Given the description of an element on the screen output the (x, y) to click on. 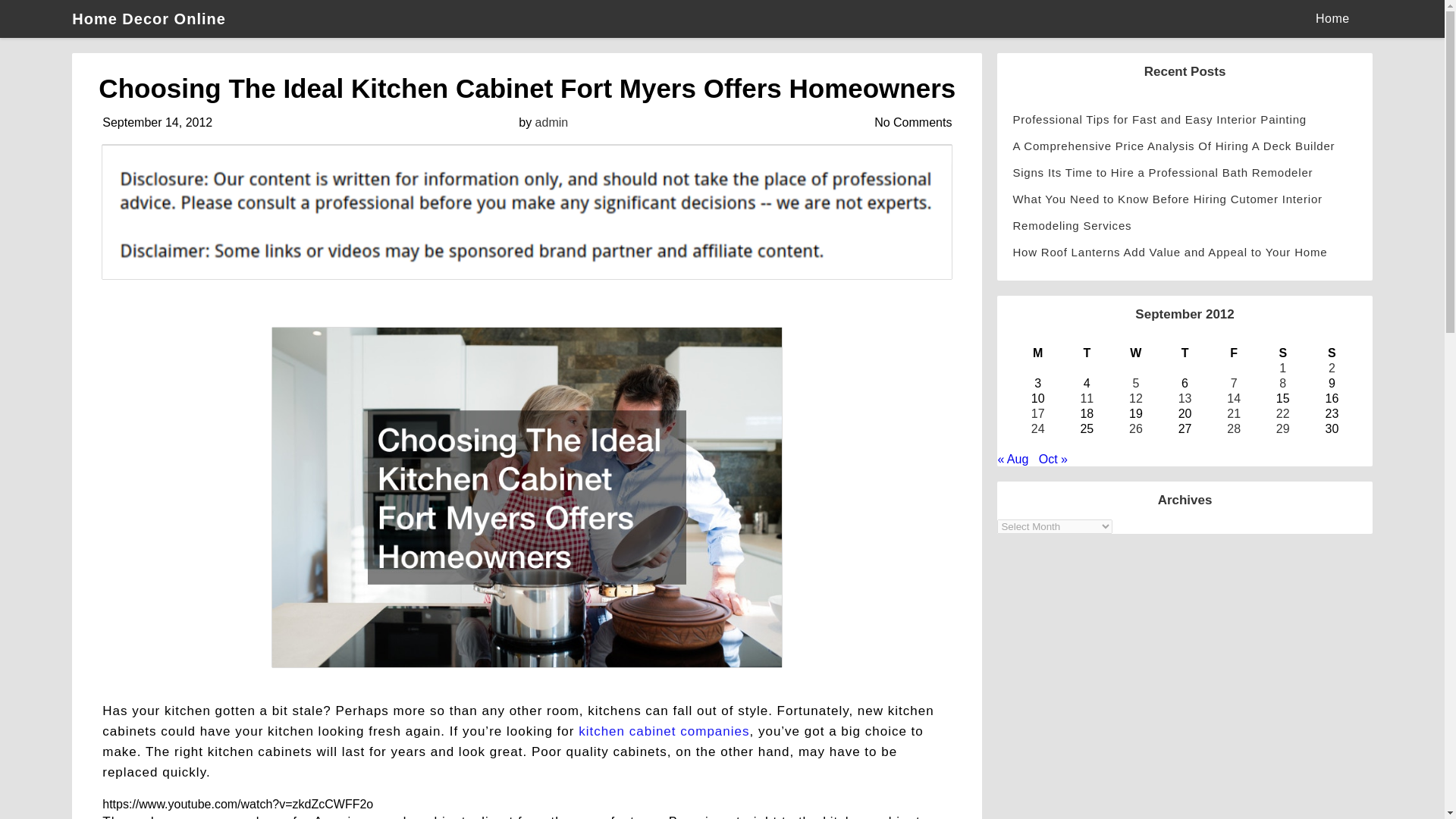
13 (1184, 398)
Saturday (1282, 353)
12 (1135, 398)
11 (1086, 398)
Friday (1233, 353)
No Comments (913, 122)
Monday (1037, 353)
Thursday (1184, 353)
Posts by admin (552, 122)
Home Decor Online (156, 18)
